Given the description of an element on the screen output the (x, y) to click on. 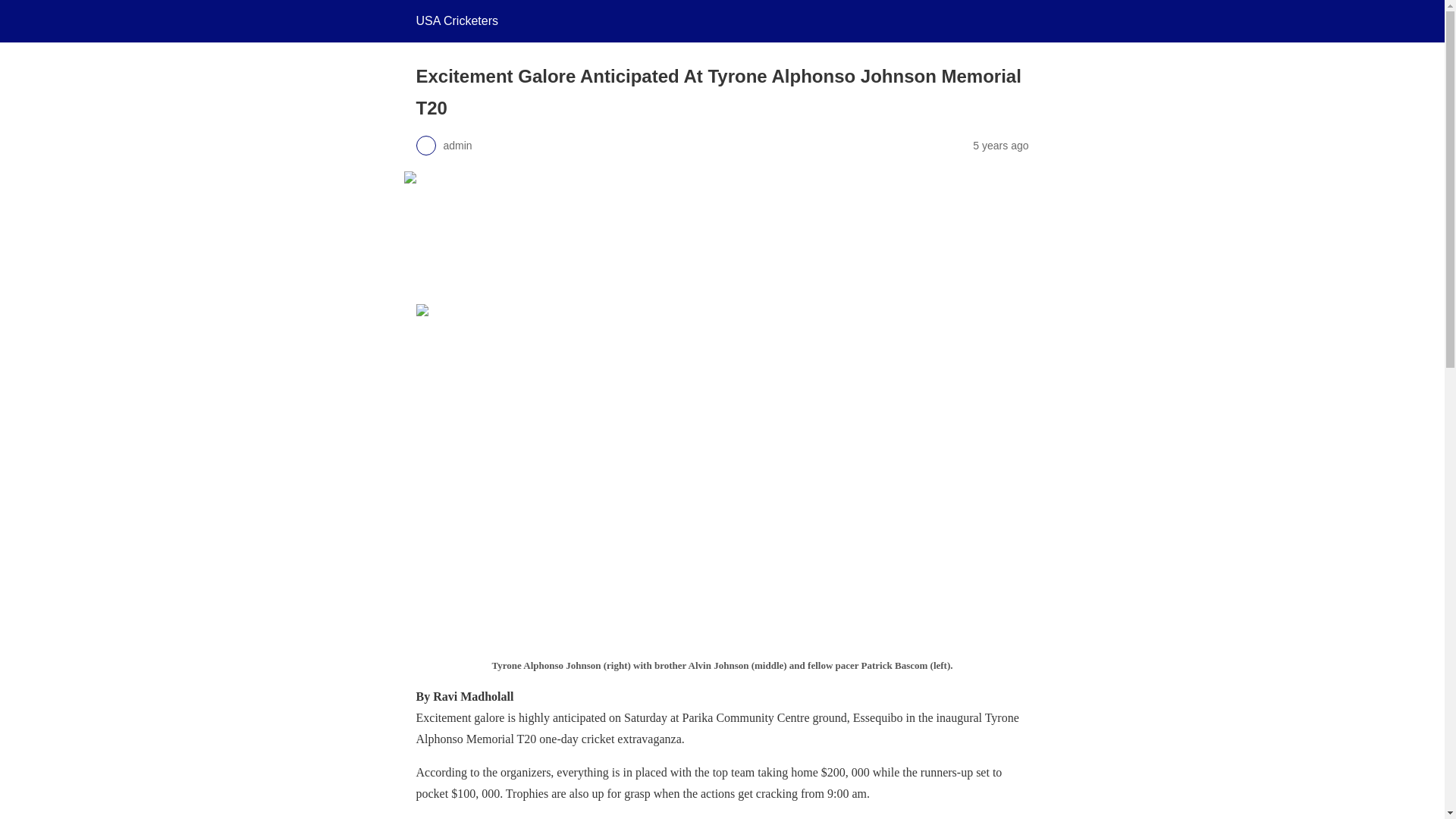
USA Cricketers (455, 20)
